Given the description of an element on the screen output the (x, y) to click on. 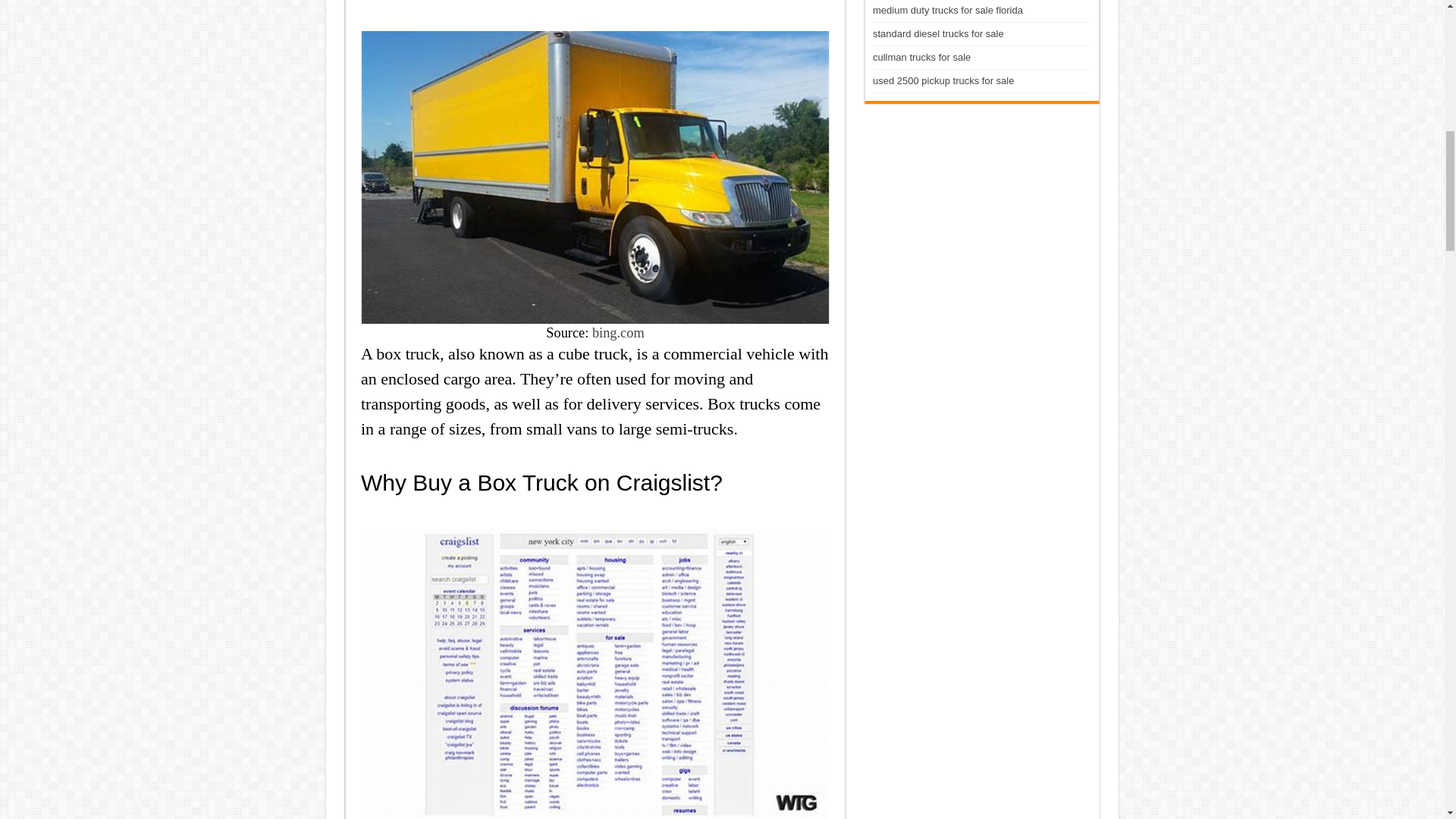
bing.com (618, 332)
